Given the description of an element on the screen output the (x, y) to click on. 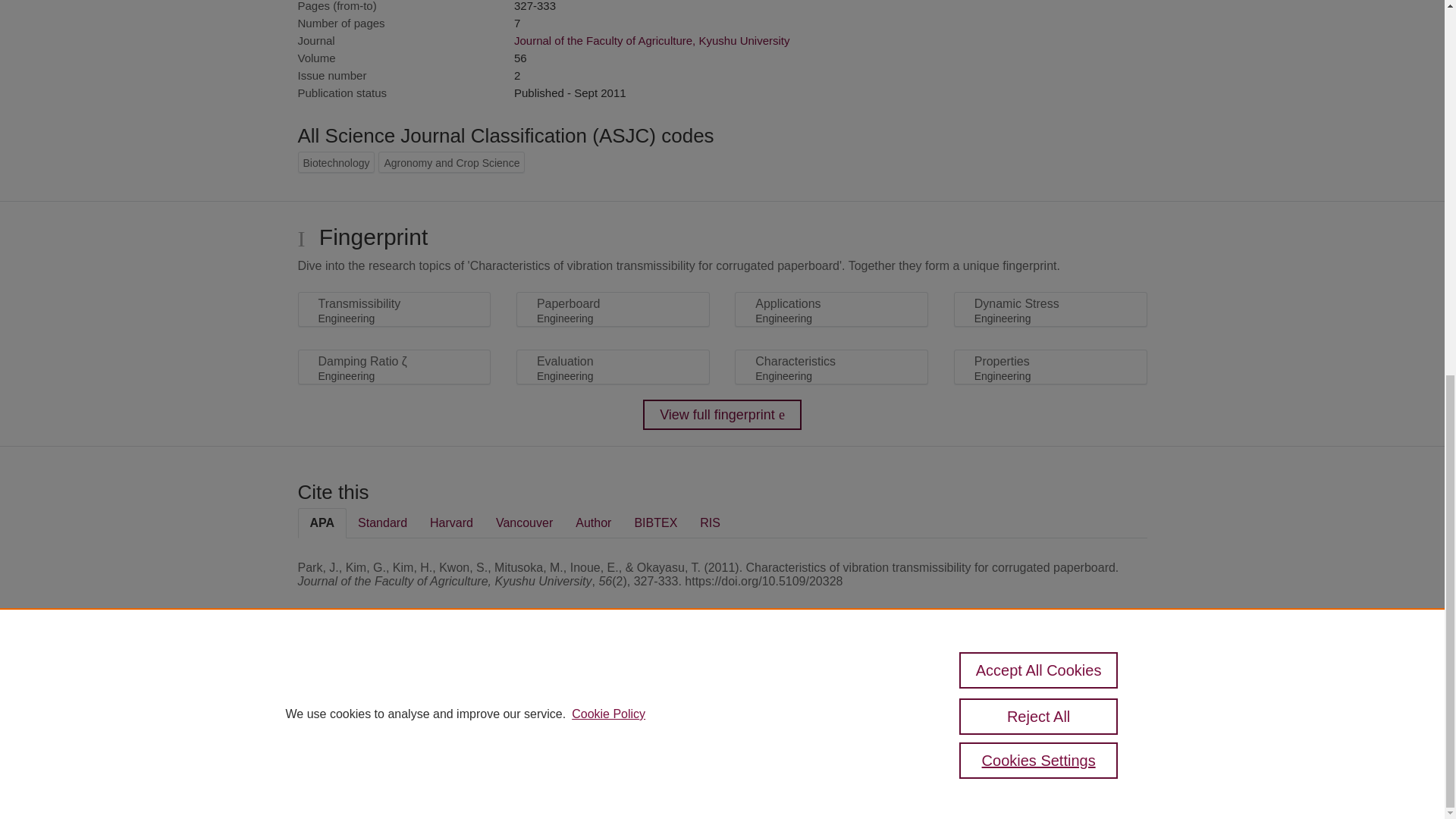
Scopus (394, 686)
Journal of the Faculty of Agriculture, Kyushu University (651, 40)
View full fingerprint (722, 414)
Pure (362, 686)
